Given the description of an element on the screen output the (x, y) to click on. 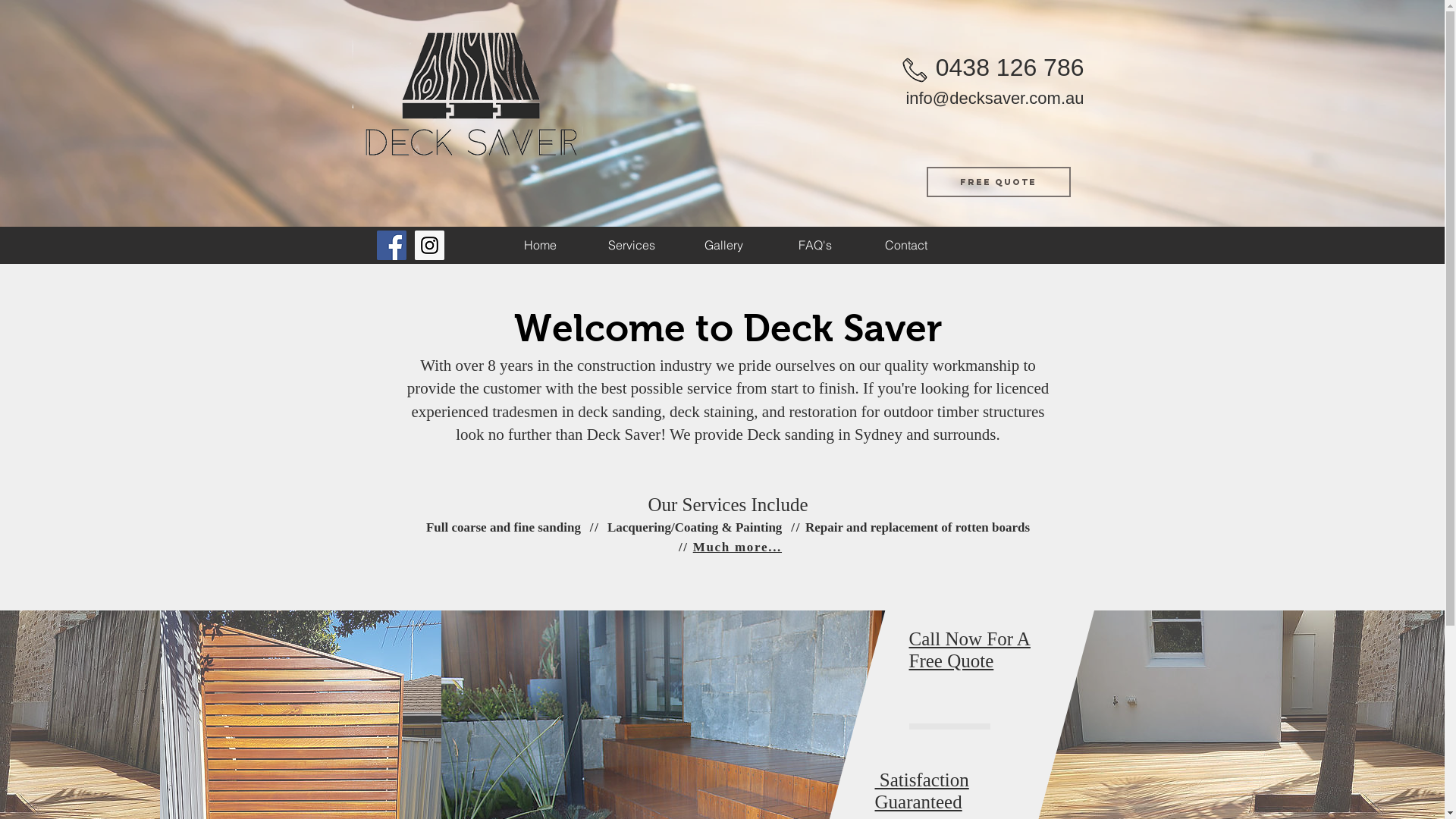
Gallery Element type: text (723, 244)
Call Now For A Free Quote Element type: text (968, 649)
Home Element type: text (540, 244)
info@decksaver.com.au Element type: text (994, 97)
Contact Element type: text (904, 244)
Much more... Element type: text (737, 546)
0438 126 786 Element type: text (1009, 67)
FAQ's Element type: text (813, 244)
FREE QUOTE Element type: text (998, 181)
Services Element type: text (631, 244)
